Given the description of an element on the screen output the (x, y) to click on. 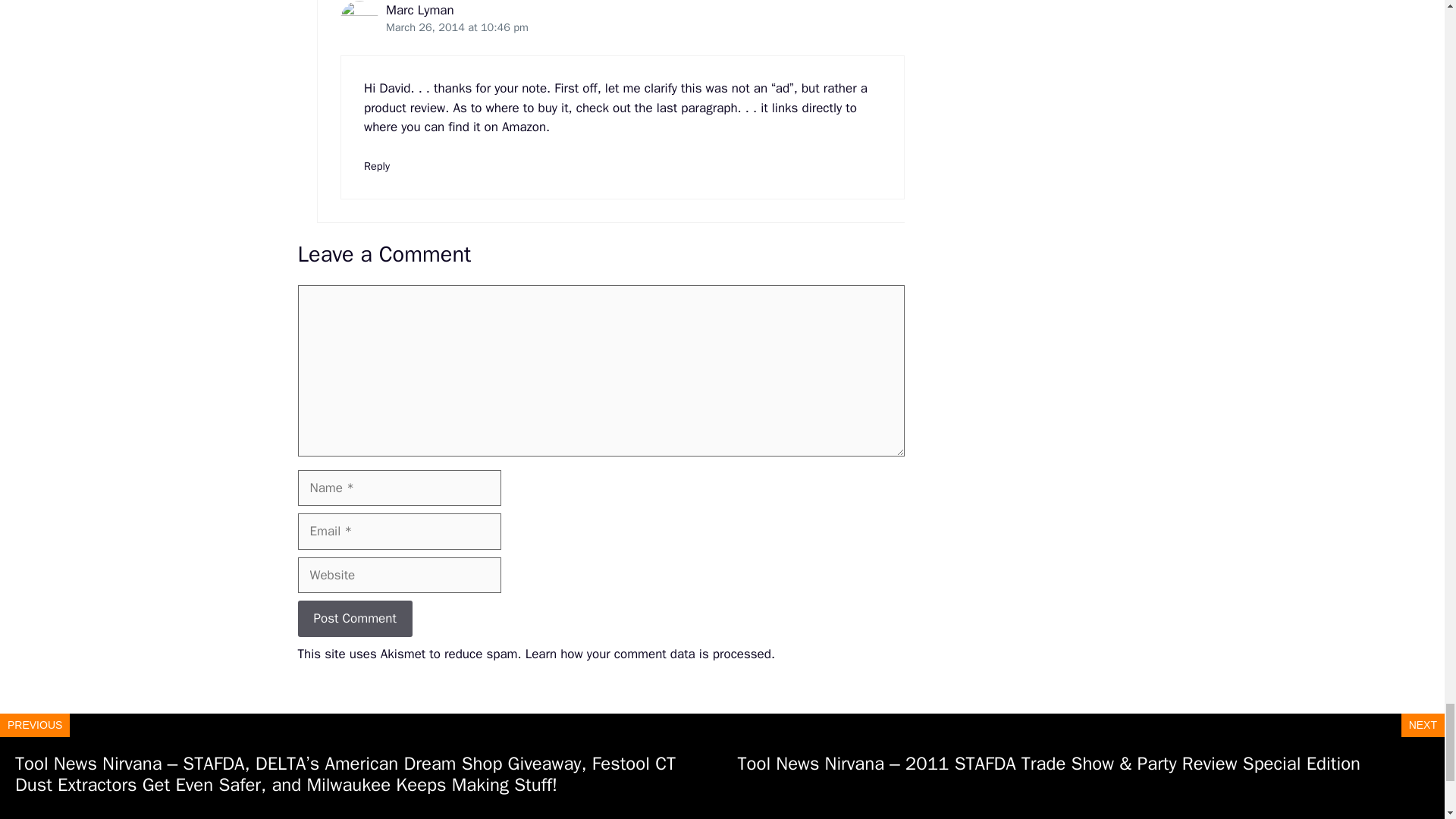
Post Comment (354, 618)
